Given the description of an element on the screen output the (x, y) to click on. 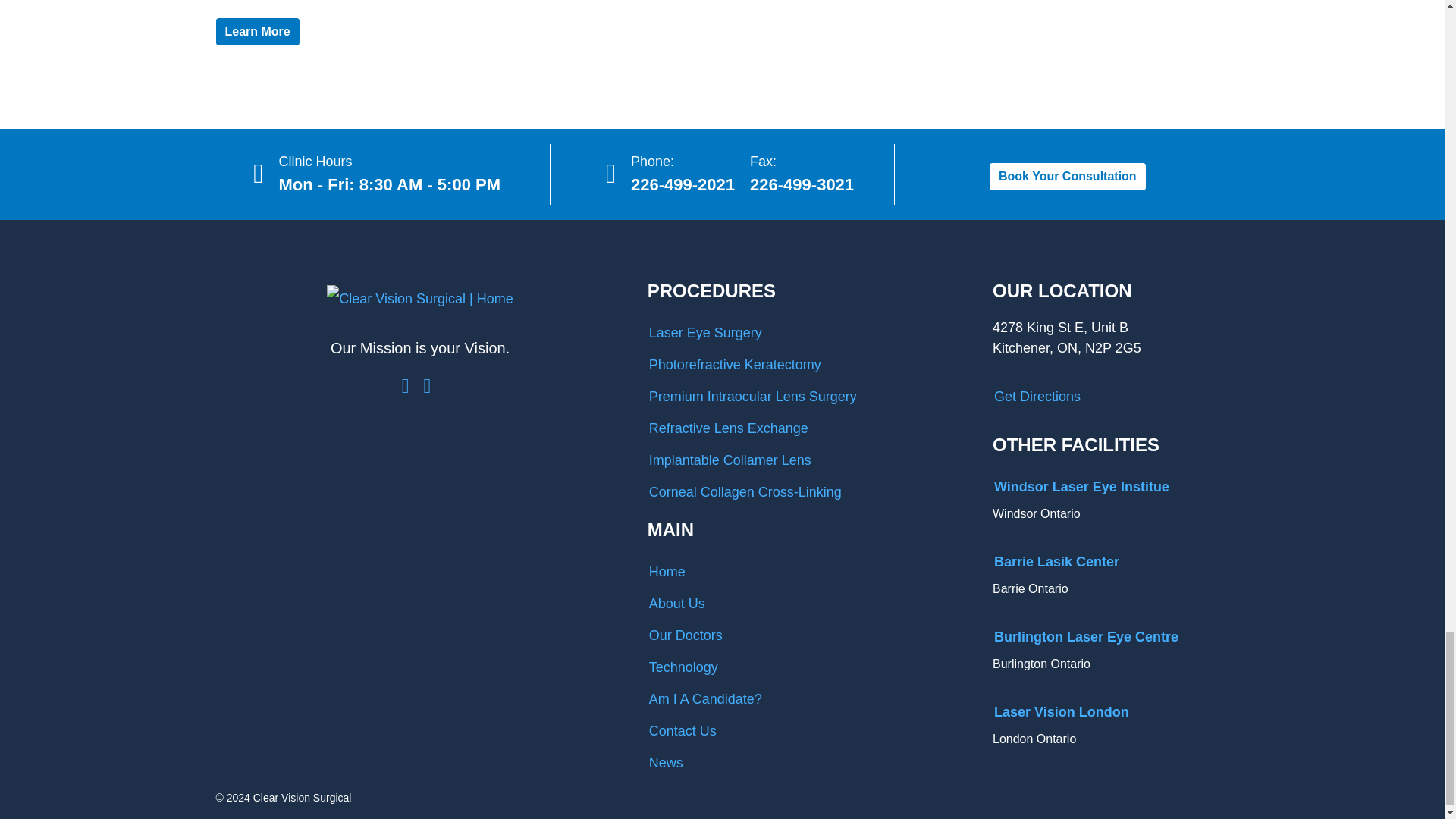
Book Your Consultation (1067, 176)
Refractive Lens Exchange (808, 428)
Photorefractive Keratectomy (808, 364)
Premium Intraocular Lens Surgery (808, 396)
Learn More (256, 31)
Laser Eye Surgery (808, 332)
226-499-2021 (682, 184)
